Given the description of an element on the screen output the (x, y) to click on. 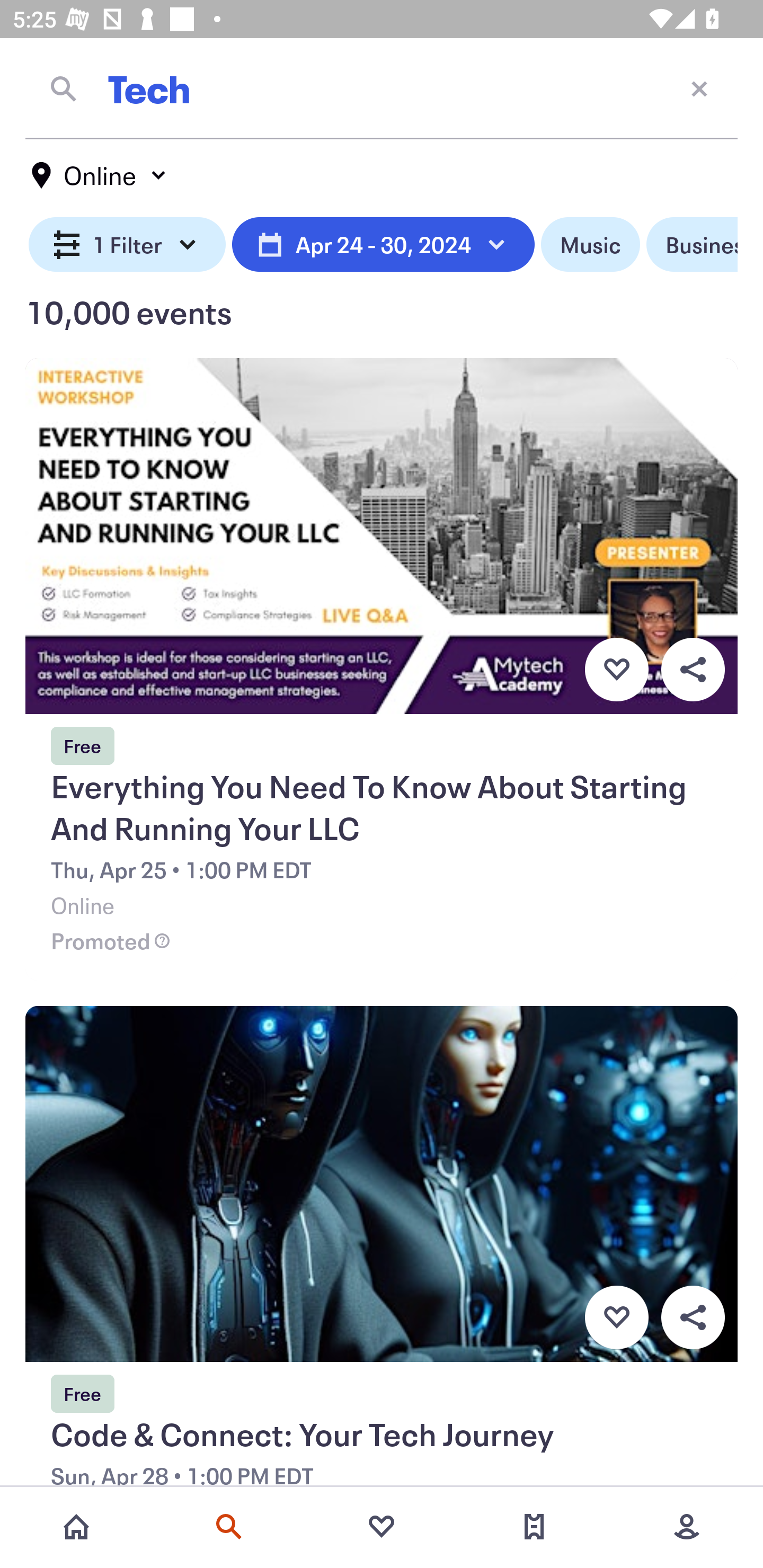
Tech Close current screen (381, 88)
Close current screen (699, 88)
Online (99, 175)
1 Filter (126, 244)
Apr 24 - 30, 2024 (382, 244)
Music (590, 244)
Business (691, 244)
Favorite button (616, 669)
Overflow menu button (692, 669)
Favorite button (616, 1317)
Overflow menu button (692, 1317)
Home (76, 1526)
Search events (228, 1526)
Favorites (381, 1526)
Tickets (533, 1526)
More (686, 1526)
